Given the description of an element on the screen output the (x, y) to click on. 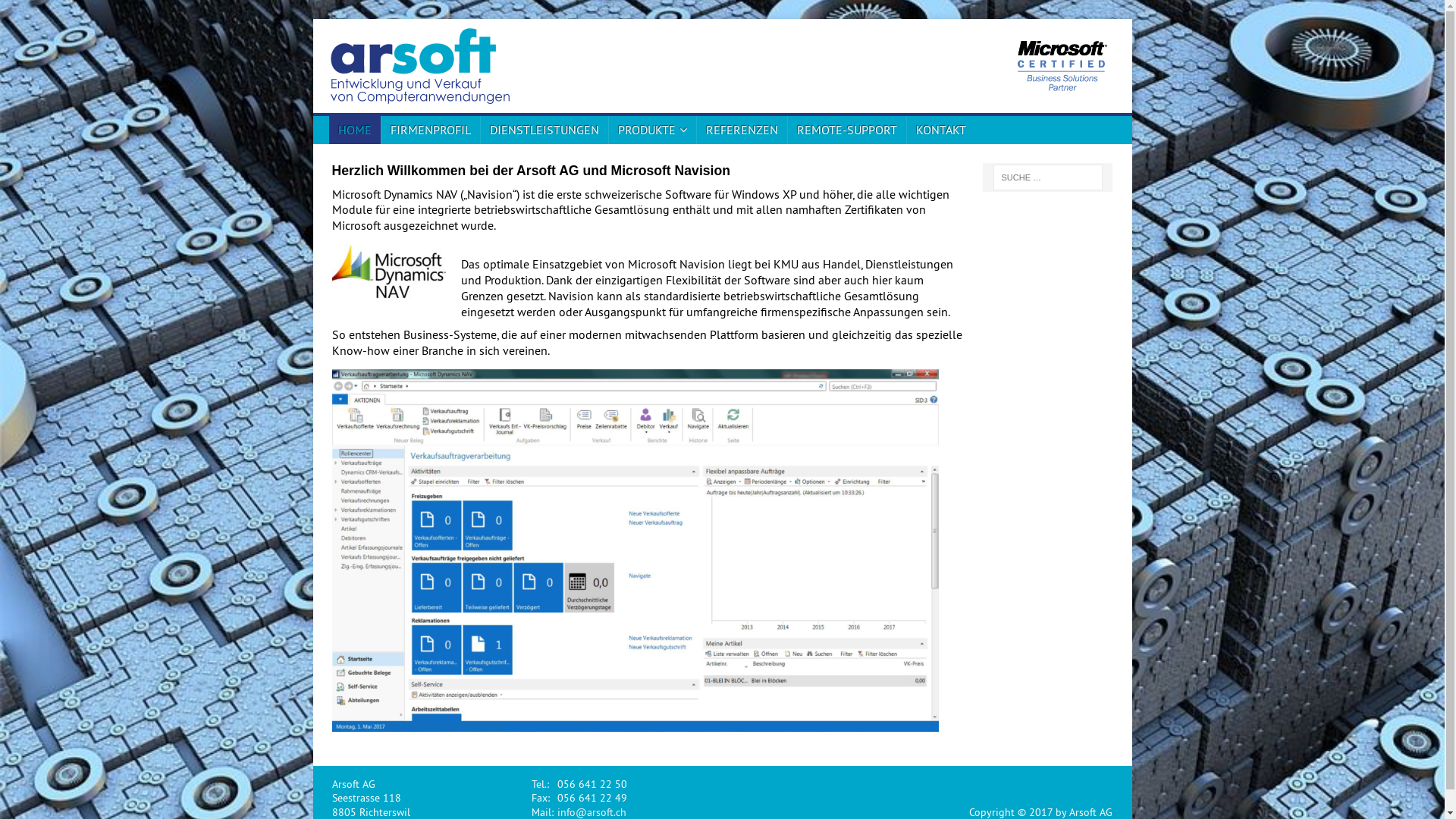
Arsoft AG Element type: hover (1020, 65)
Suche Element type: text (56, 10)
REMOTE-SUPPORT Element type: text (846, 130)
DIENSTLEISTUNGEN Element type: text (544, 130)
KONTAKT Element type: text (940, 130)
FIRMENPROFIL Element type: text (430, 130)
REFERENZEN Element type: text (741, 130)
PRODUKTE Element type: text (652, 130)
HOME Element type: text (354, 130)
